Given the description of an element on the screen output the (x, y) to click on. 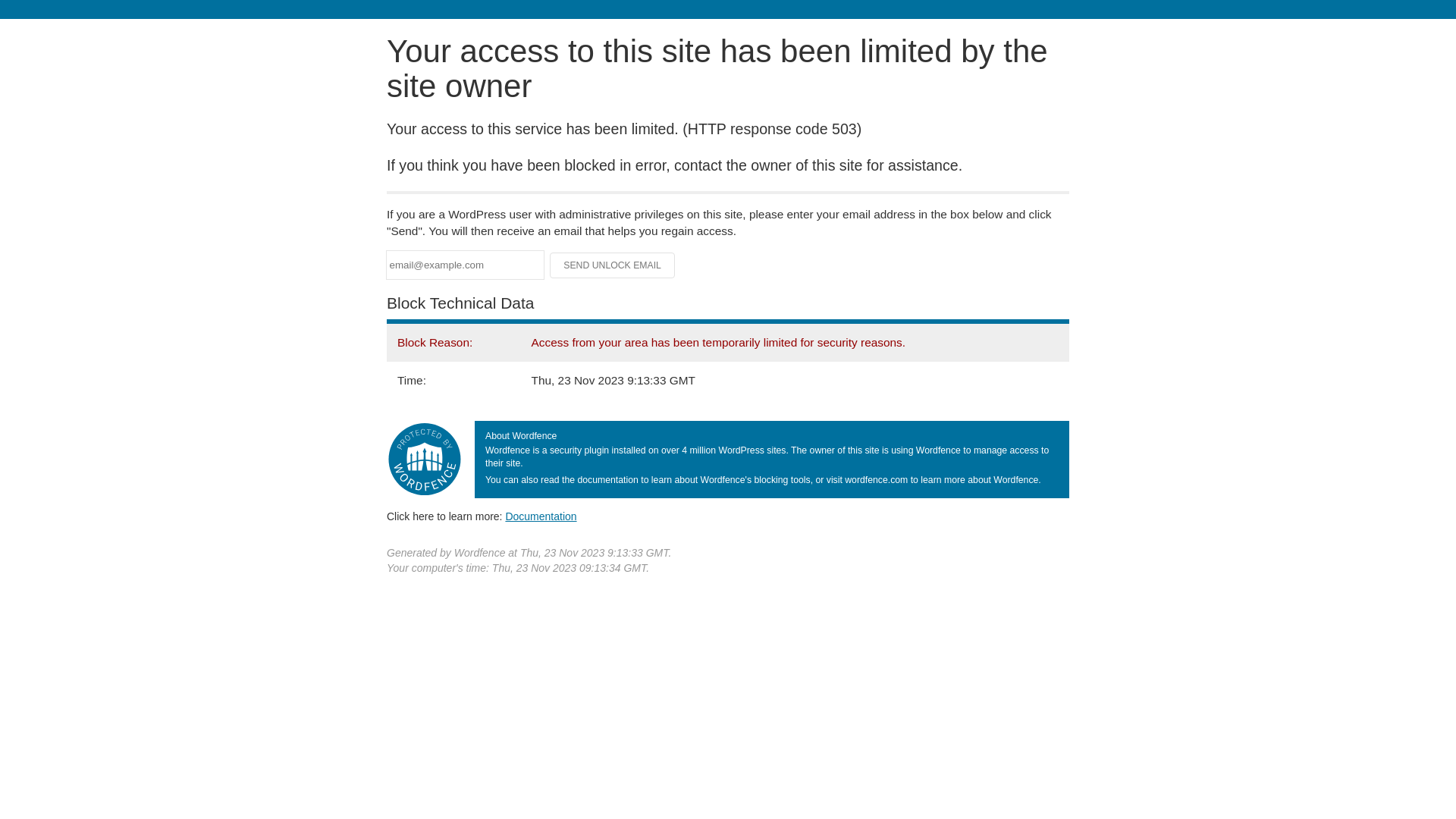
Documentation Element type: text (540, 516)
Send Unlock Email Element type: text (612, 265)
